Given the description of an element on the screen output the (x, y) to click on. 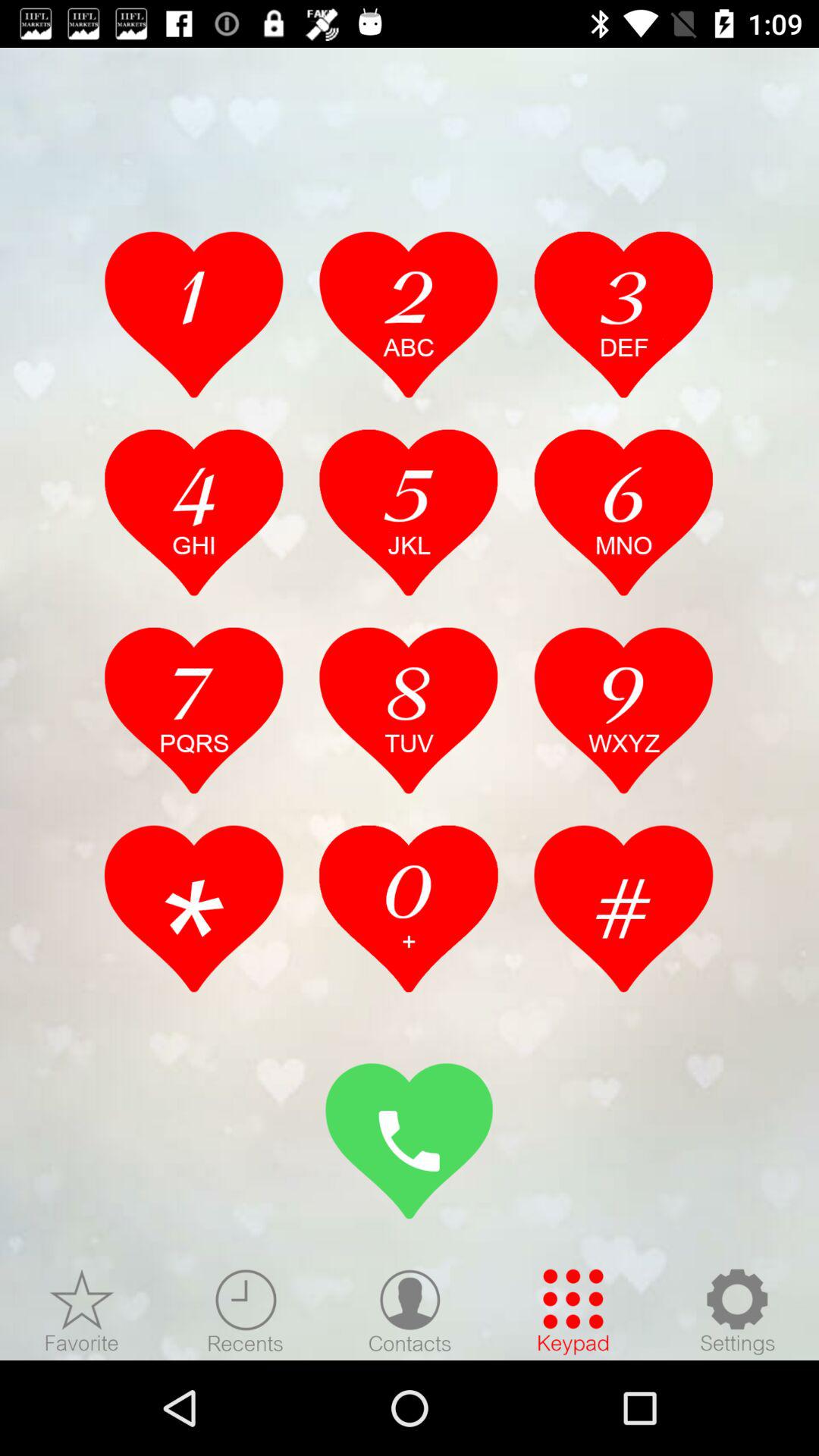
settings (737, 1311)
